Given the description of an element on the screen output the (x, y) to click on. 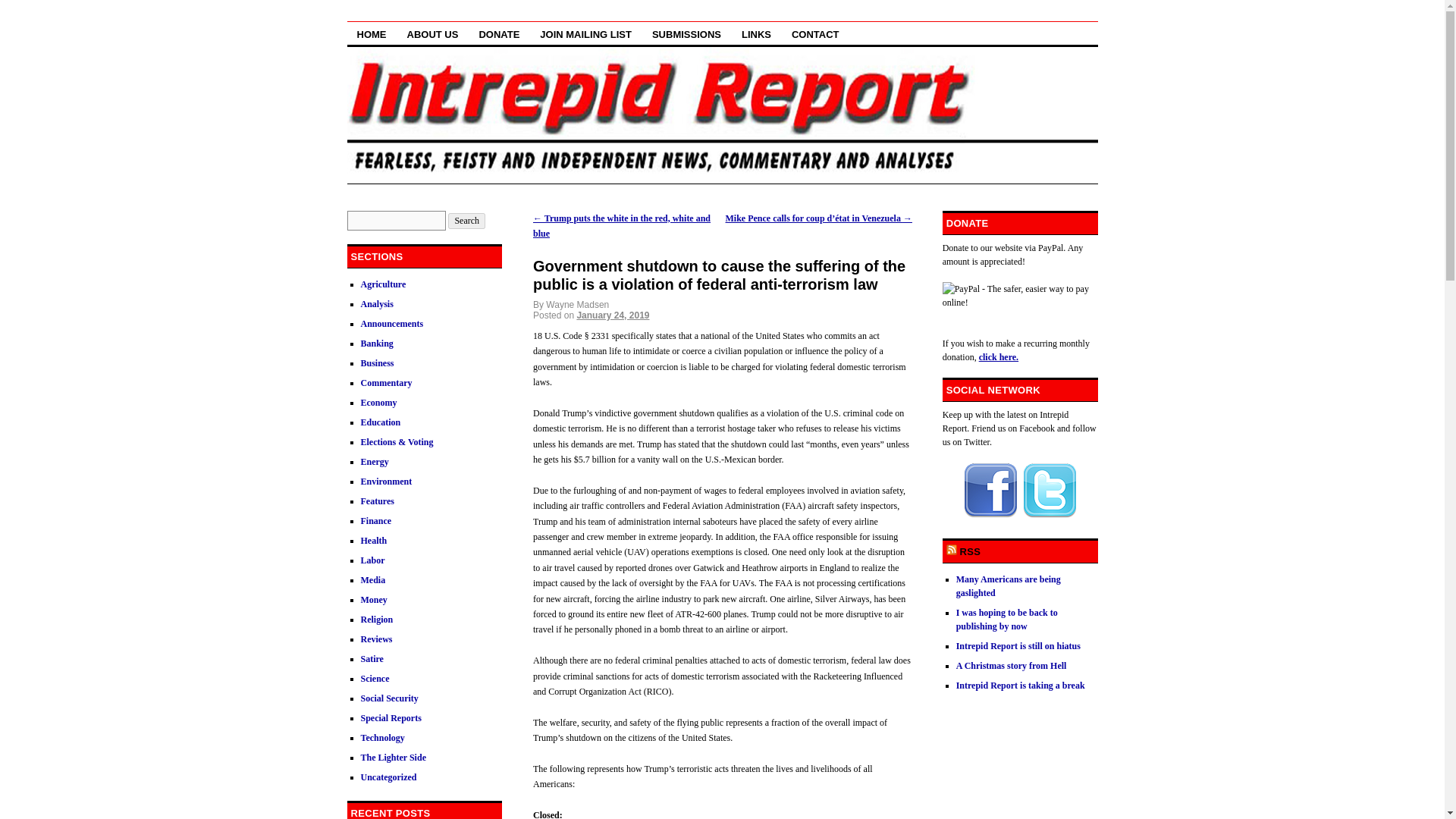
LINKS (756, 33)
Links (756, 33)
Money (374, 599)
DONATE (498, 33)
Join Mailing List (585, 33)
Labor (373, 560)
CONTACT (814, 33)
Features (377, 501)
ABOUT US (432, 33)
Environment (386, 480)
Search (466, 220)
Education (381, 421)
About Us (432, 33)
12:10 am (612, 315)
Economy (379, 402)
